Given the description of an element on the screen output the (x, y) to click on. 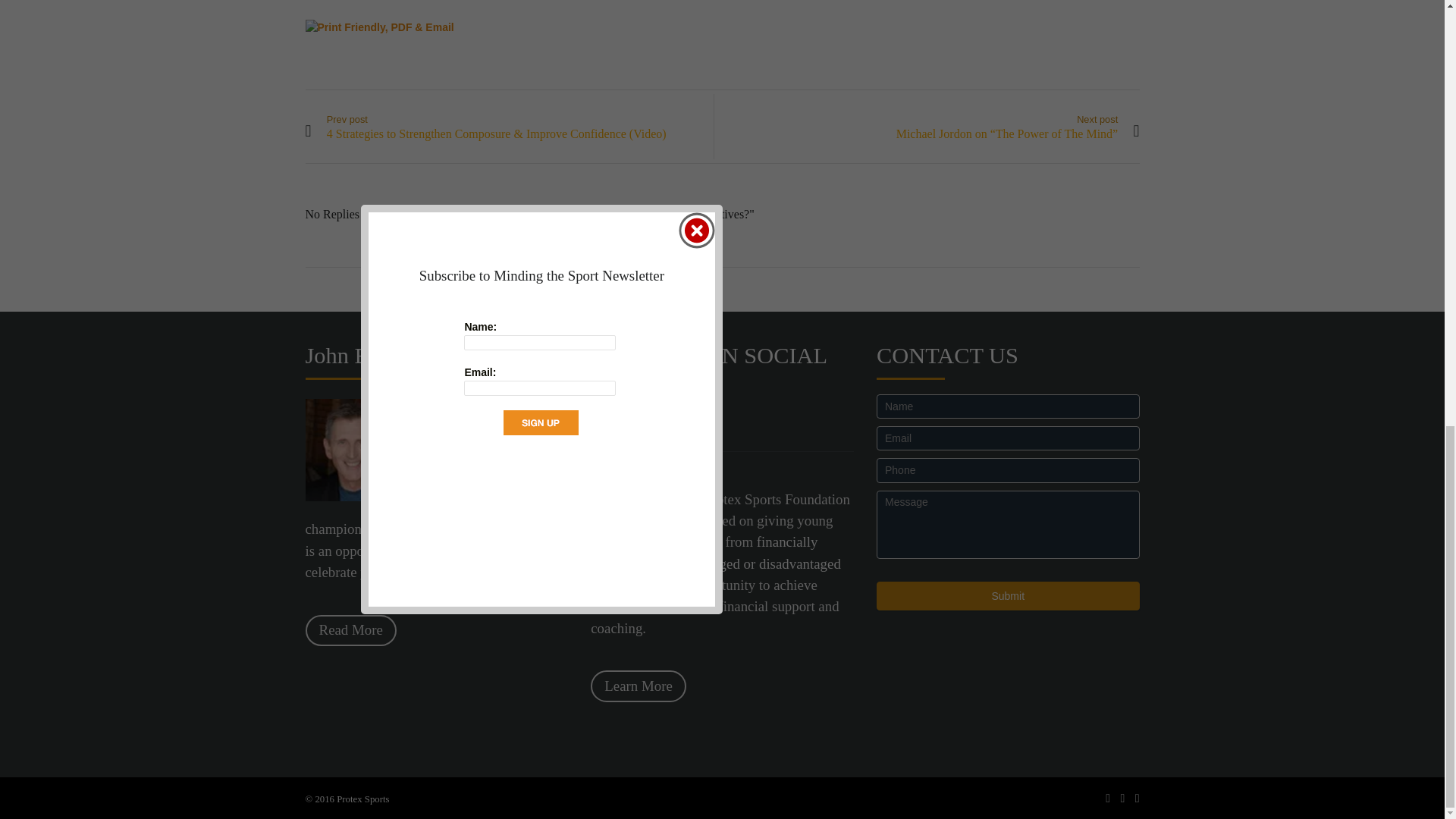
Submit (1008, 595)
Read More (350, 631)
Learn More (638, 685)
Submit (1008, 595)
